Given the description of an element on the screen output the (x, y) to click on. 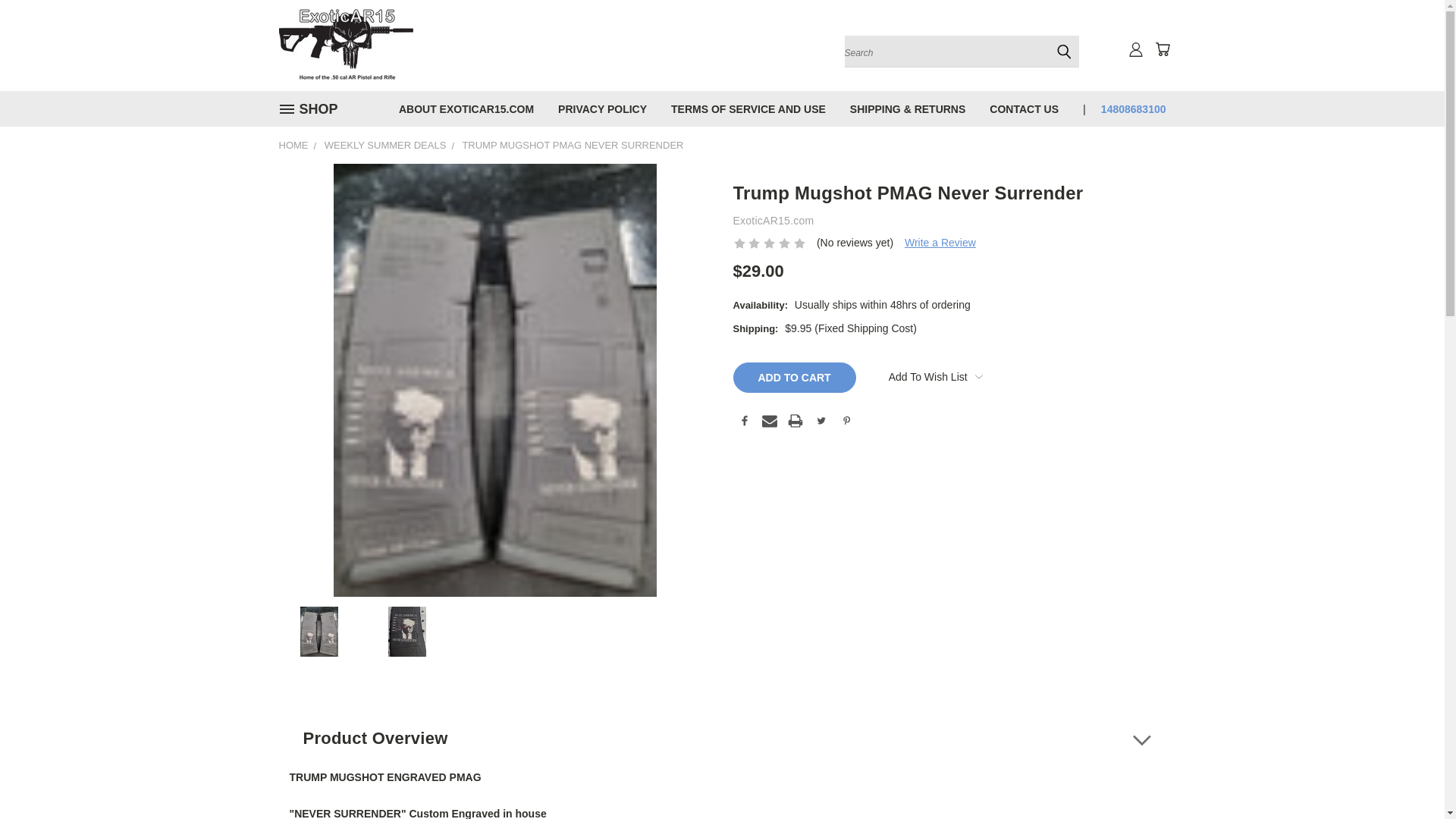
submit (1064, 51)
SHOP (314, 109)
Add to Cart (794, 377)
